Given the description of an element on the screen output the (x, y) to click on. 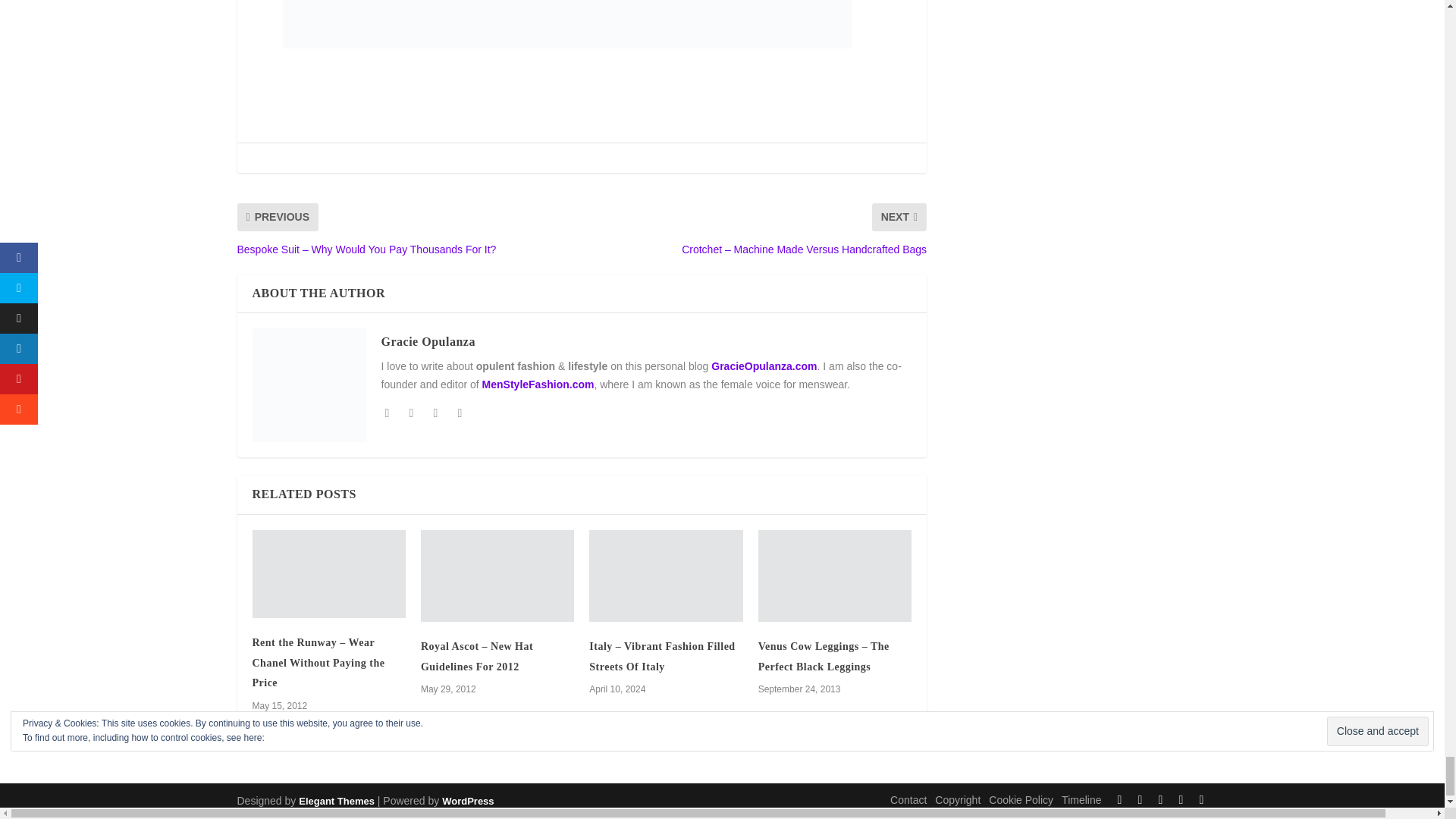
View all posts by Gracie Opulanza (427, 341)
